Given the description of an element on the screen output the (x, y) to click on. 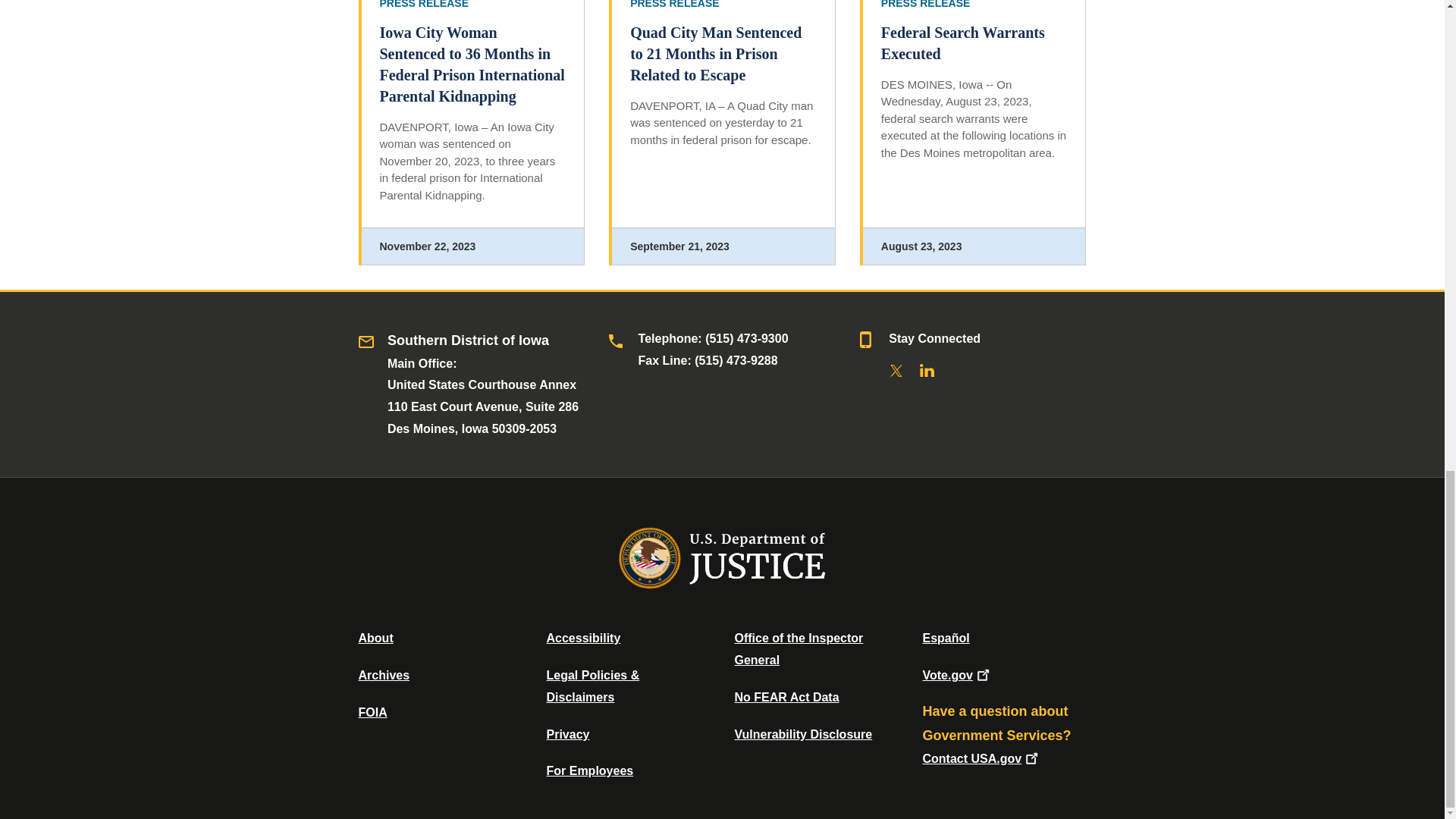
Office of Information Policy (372, 712)
For Employees (589, 770)
Accessibility Statement (583, 637)
Legal Policies and Disclaimers (592, 686)
About DOJ (375, 637)
Data Posted Pursuant To The No Fear Act (785, 697)
Department of Justice Archive (383, 675)
